Given the description of an element on the screen output the (x, y) to click on. 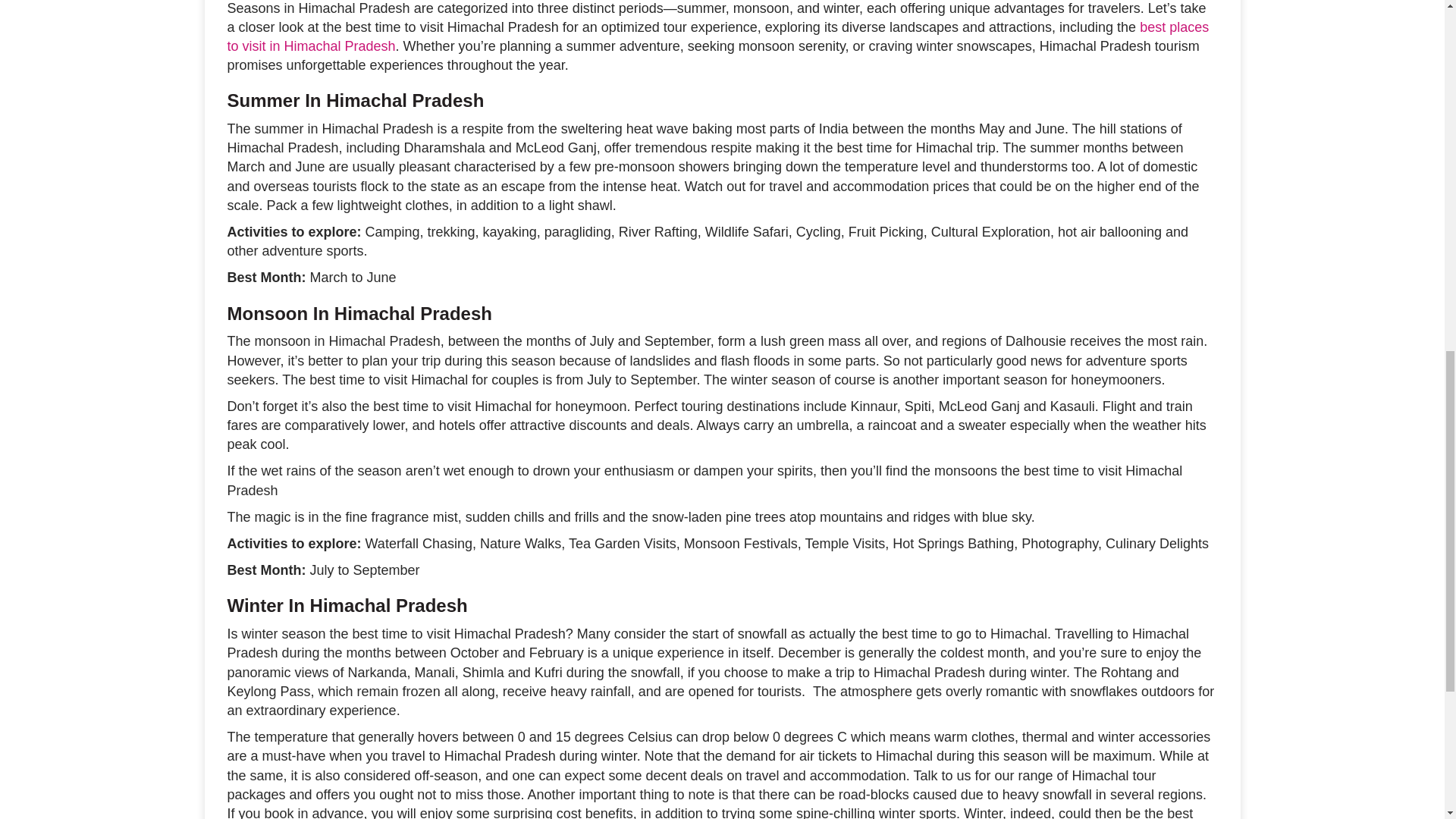
best places to visit in Himachal Pradesh (718, 36)
